Given the description of an element on the screen output the (x, y) to click on. 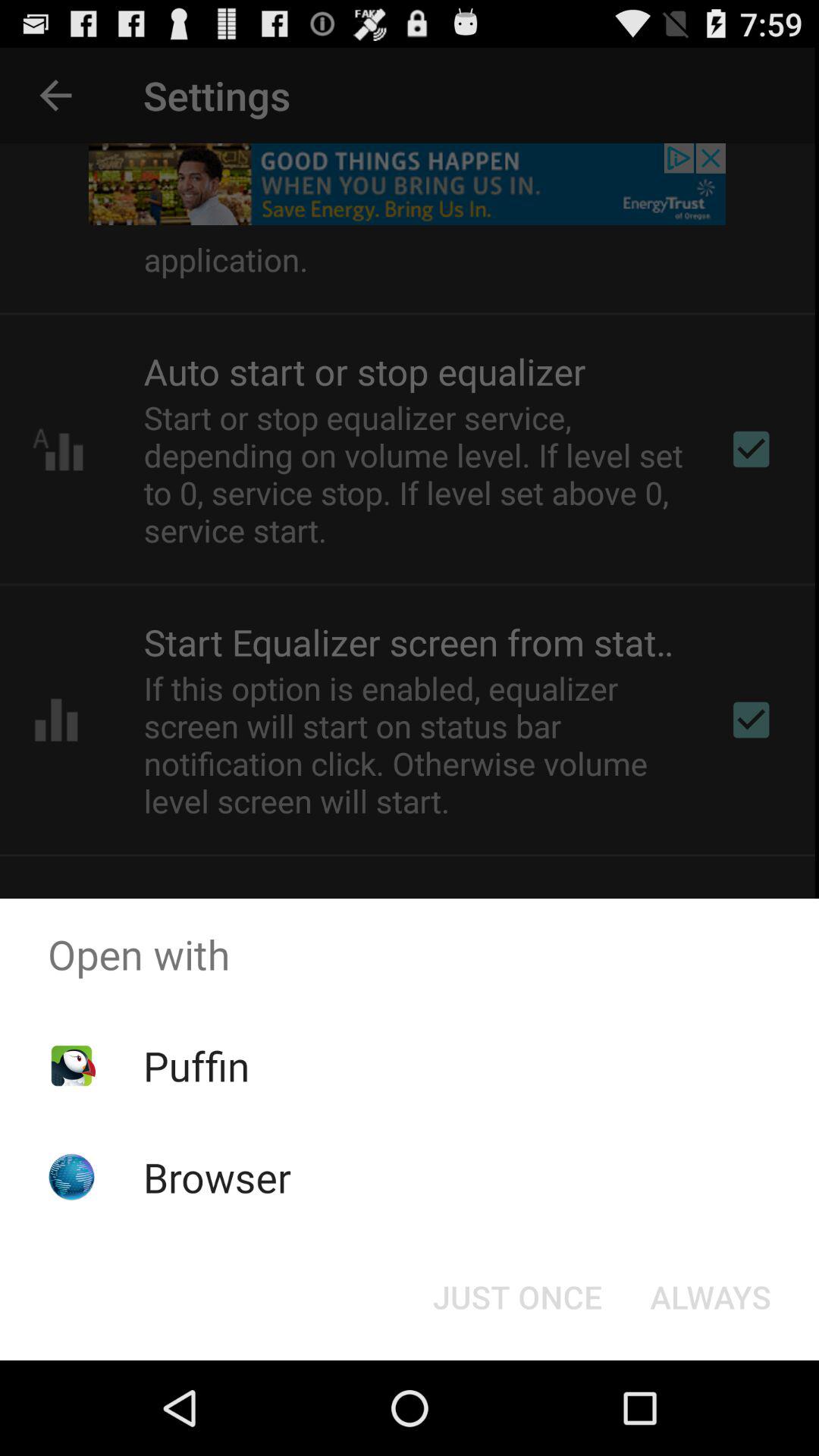
press the item to the left of always button (517, 1296)
